Given the description of an element on the screen output the (x, y) to click on. 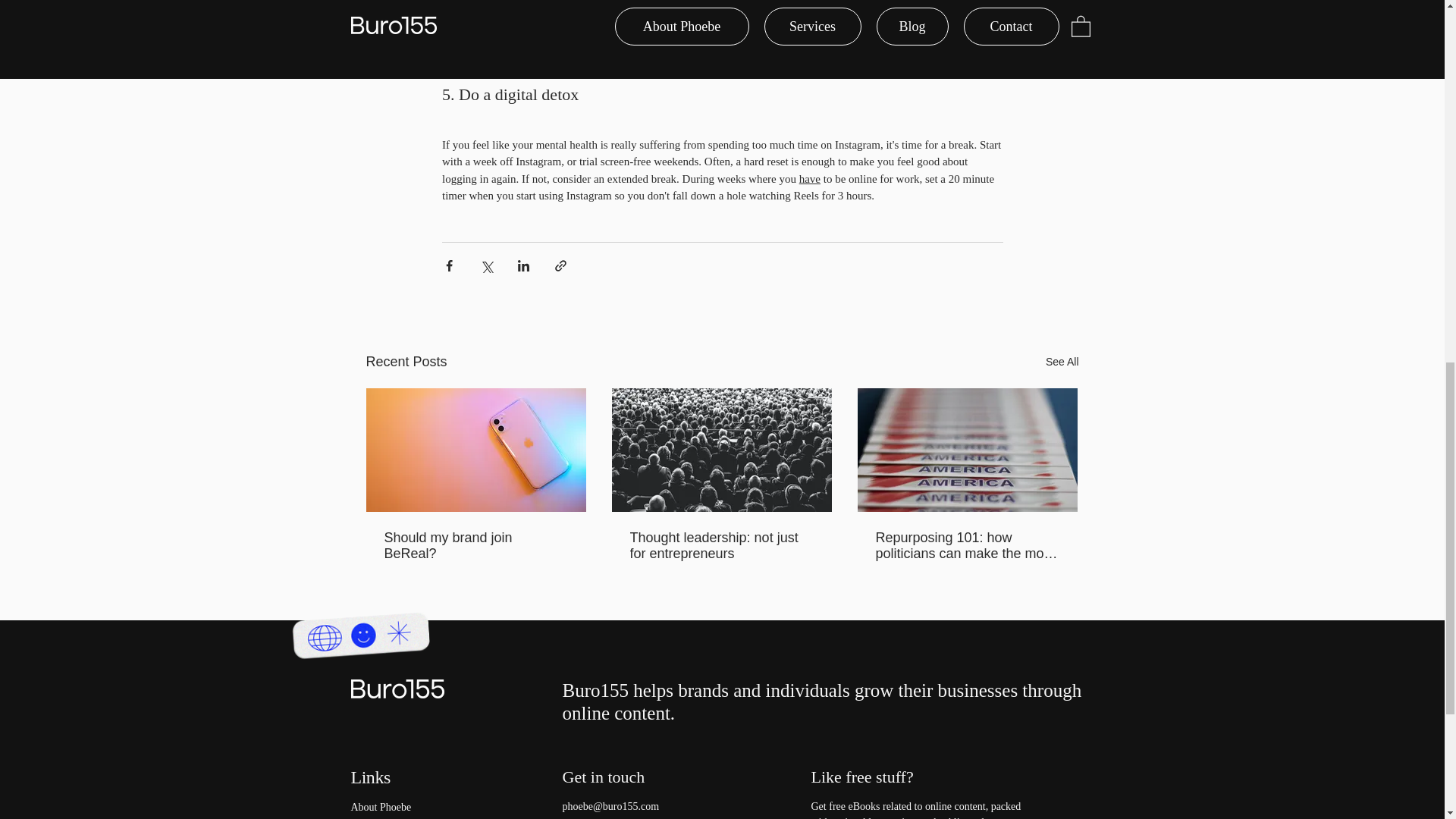
Should my brand join BeReal? (475, 545)
About Phoebe (413, 806)
See All (1061, 362)
Services (413, 817)
Thought leadership: not just for entrepreneurs (720, 545)
